Given the description of an element on the screen output the (x, y) to click on. 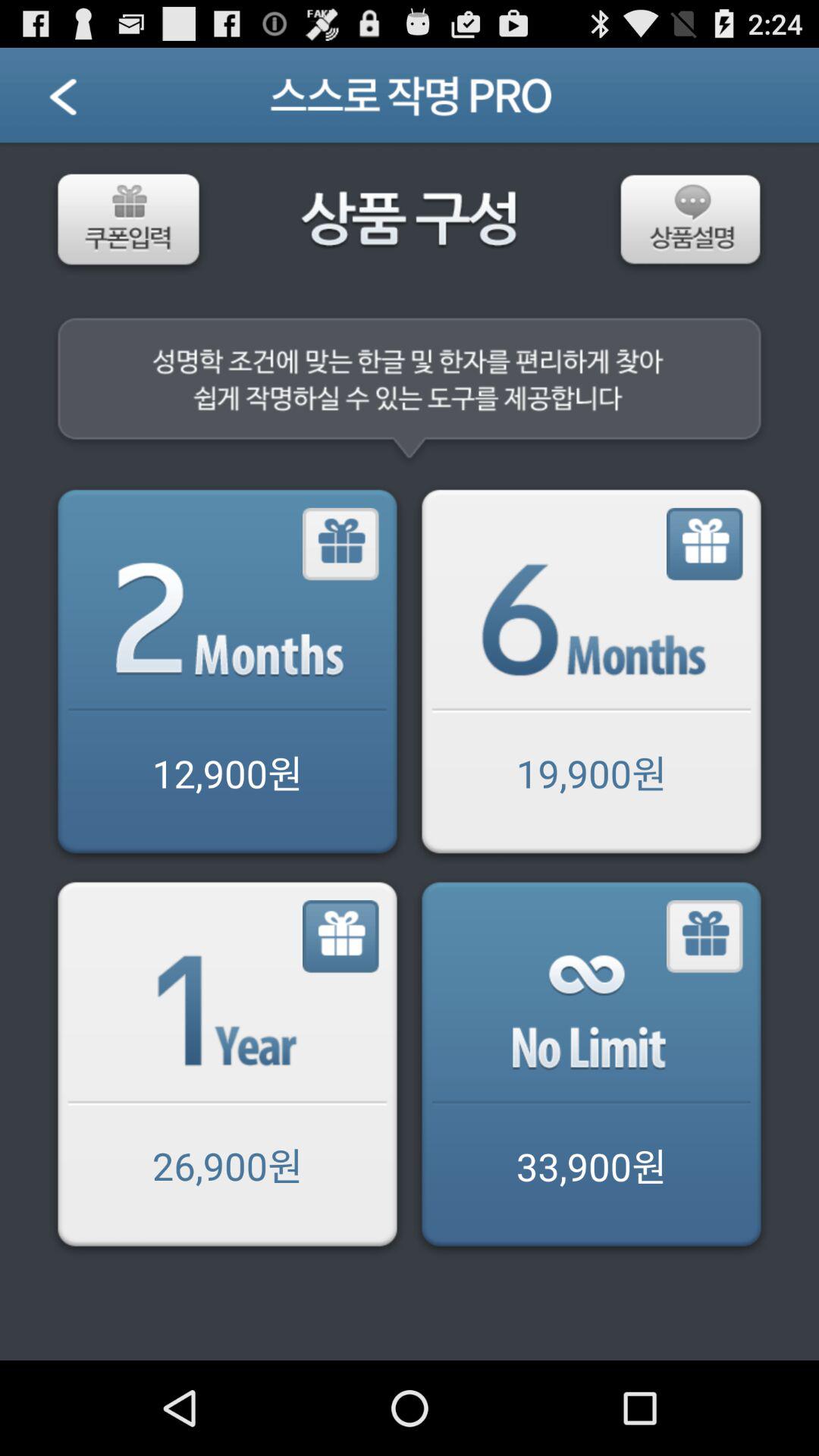
go to gift (704, 936)
